Given the description of an element on the screen output the (x, y) to click on. 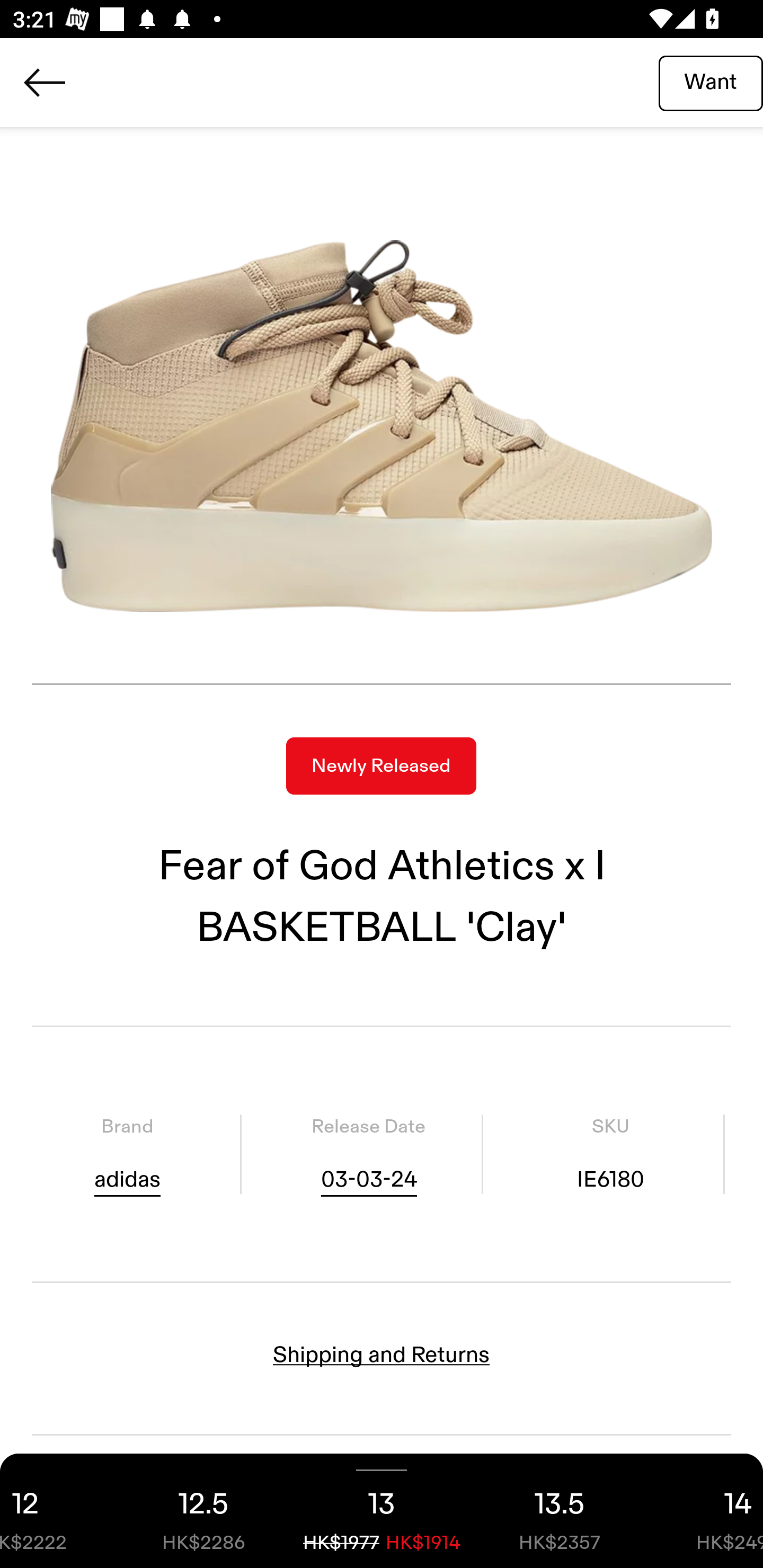
Want (710, 82)
Newly Released (381, 765)
Brand adidas (126, 1153)
Release Date 03-03-24 (368, 1153)
SKU IE6180 (609, 1153)
Shipping and Returns (381, 1355)
12 HK$2222 (57, 1510)
12.5 HK$2286 (203, 1510)
13 HK$1977 HK$1914 (381, 1510)
13.5 HK$2357 (559, 1510)
14 HK$2499 (705, 1510)
